Given the description of an element on the screen output the (x, y) to click on. 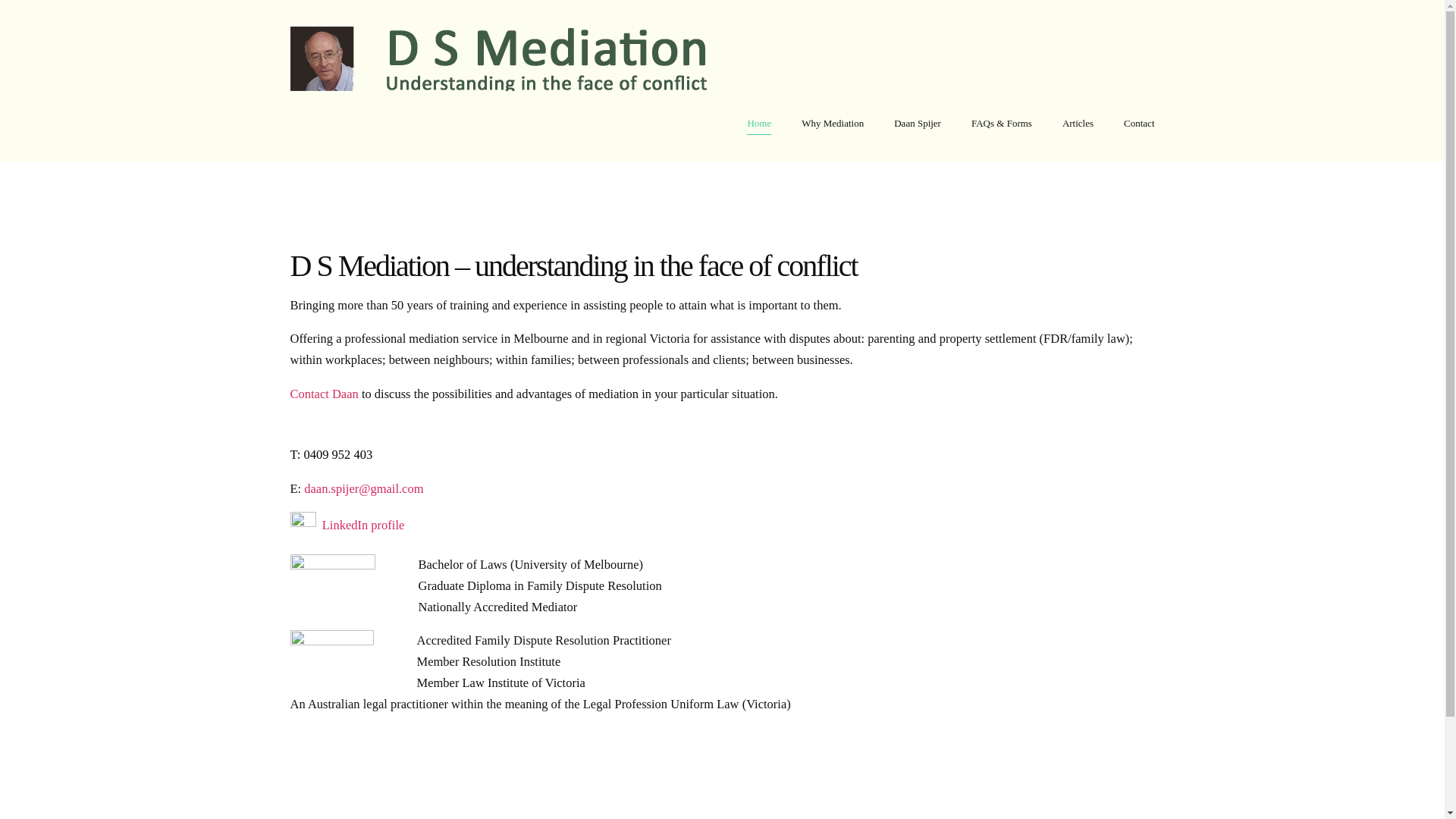
Home Element type: text (758, 123)
FAQs & Forms Element type: text (1001, 123)
Contact Daan Element type: text (323, 393)
LinkedIn profile Element type: text (363, 524)
Articles Element type: text (1077, 123)
Contact Element type: text (1138, 123)
Why Mediation Element type: text (832, 123)
daan.spijer@gmail.com Element type: text (363, 487)
Daan Spijer Element type: text (917, 123)
